Given the description of an element on the screen output the (x, y) to click on. 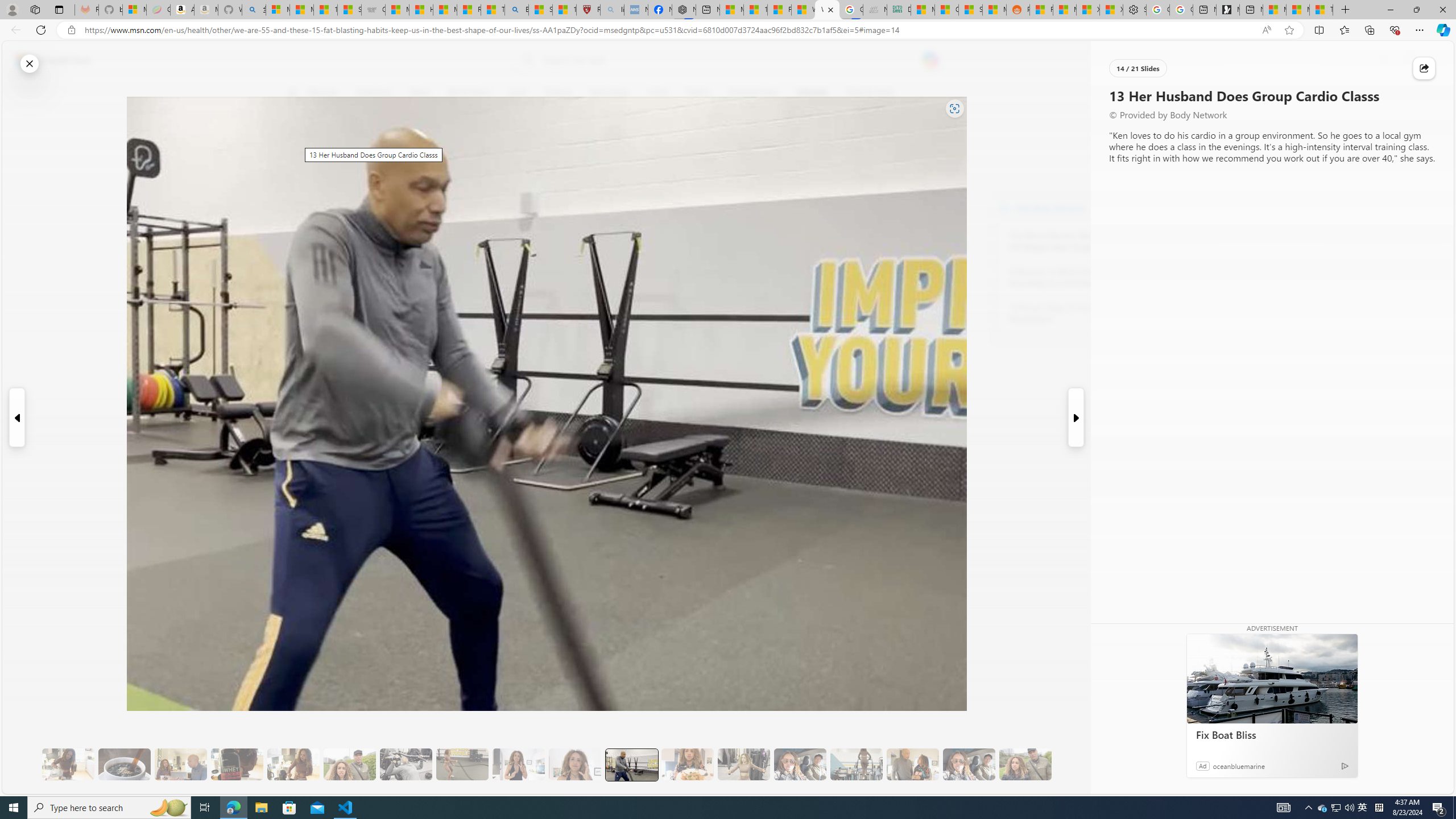
8 Be Mindful of Coffee (124, 764)
7 They Don't Skip Meals (293, 764)
6 Since Eating More Protein Her Training Has Improved (237, 764)
19 It Also Simplifies Thiings (968, 764)
13 Her Husband Does Group Cardio Classs (631, 764)
Fix Boat Bliss (1271, 735)
6 Like (299, 138)
